Given the description of an element on the screen output the (x, y) to click on. 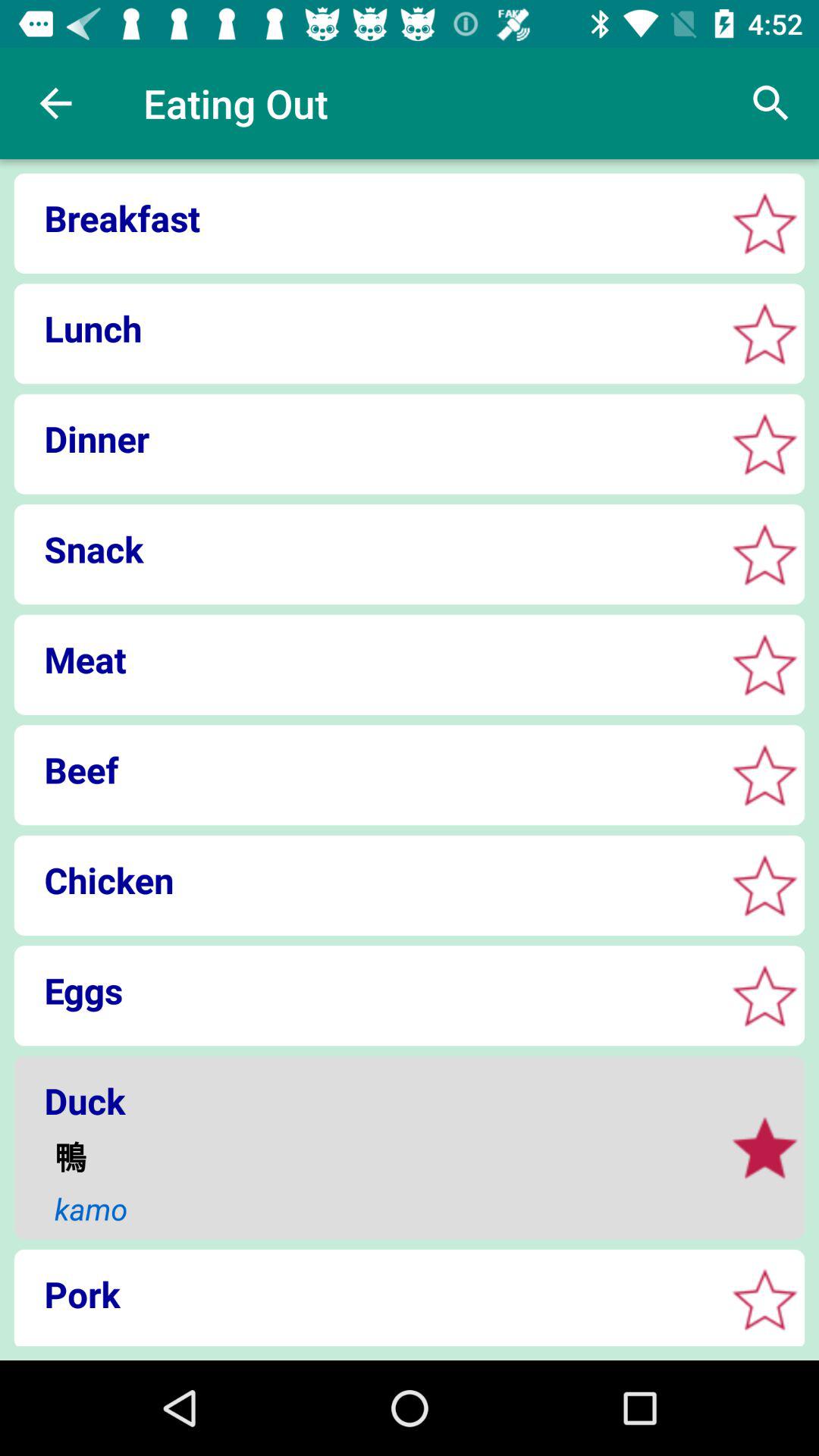
favorite (764, 554)
